Given the description of an element on the screen output the (x, y) to click on. 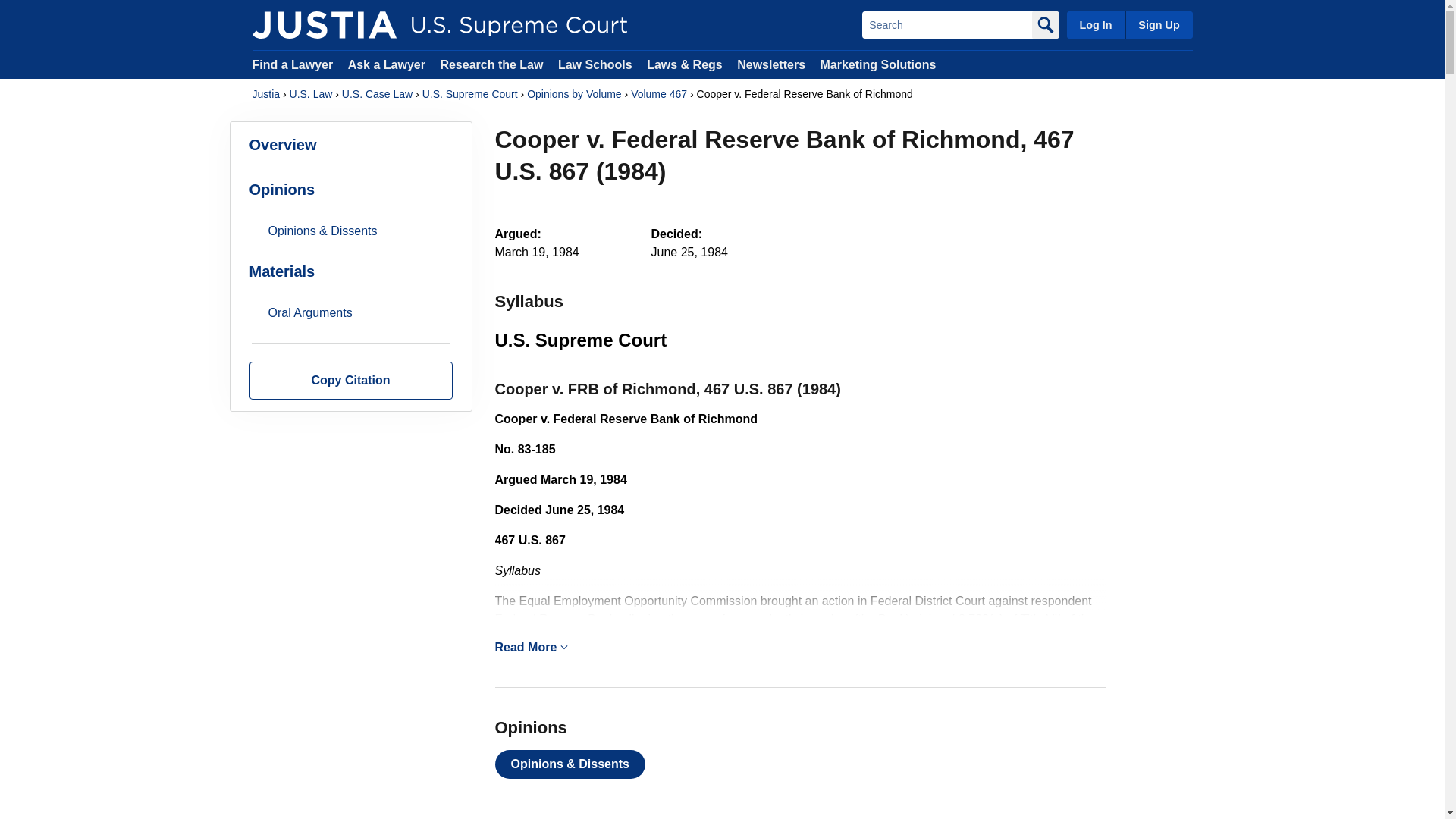
Marketing Solutions (877, 64)
Research the Law (491, 64)
Sign Up (1158, 24)
U.S. Law (311, 93)
Ask a Lawyer (388, 64)
Mobile Navigation (563, 646)
Law Schools (594, 64)
Justia (265, 93)
Opinions by Volume (574, 93)
Search (945, 24)
